Given the description of an element on the screen output the (x, y) to click on. 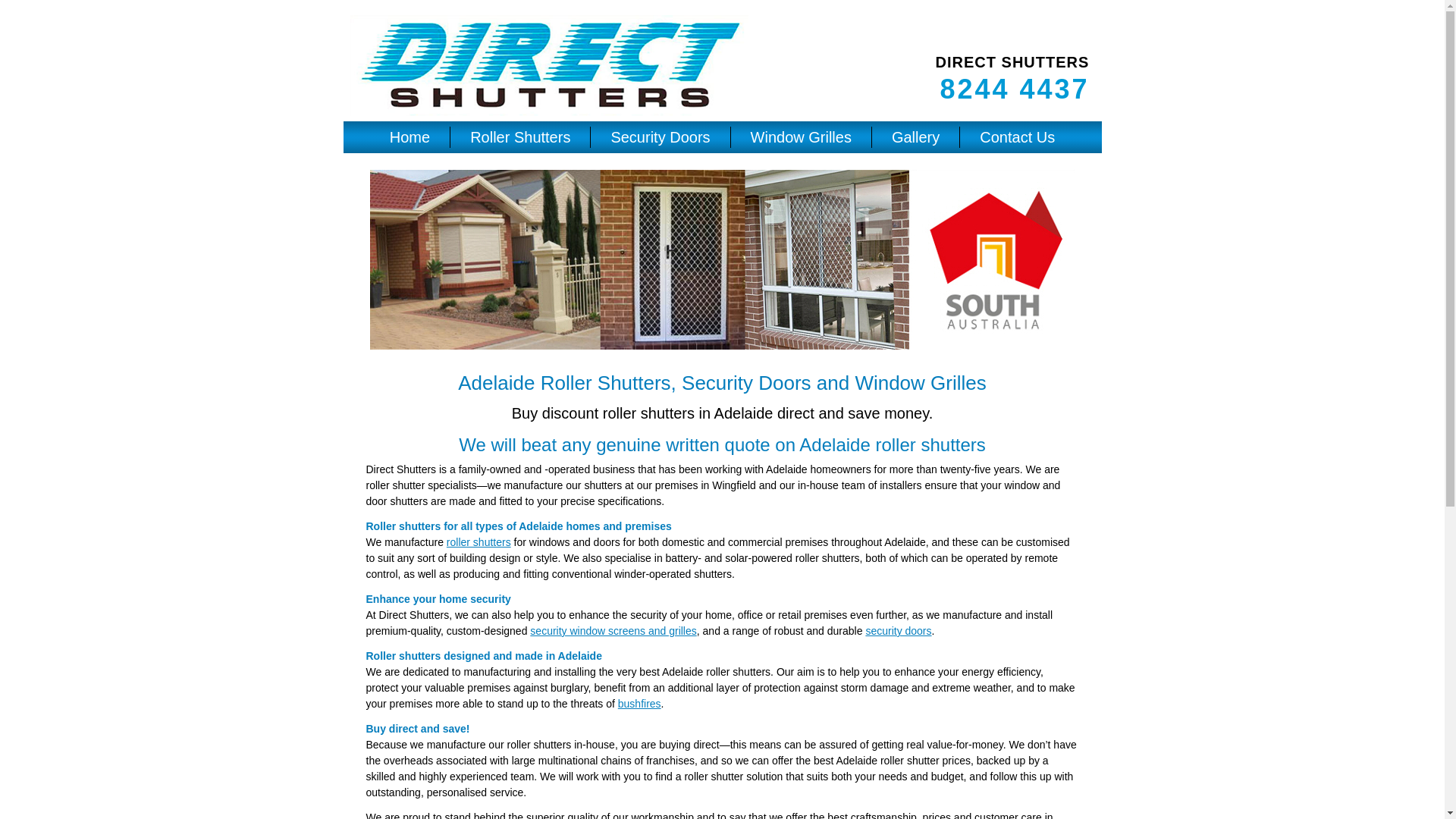
Gallery Element type: text (915, 136)
security window screens and grilles Element type: text (613, 630)
roller shutters Element type: text (478, 542)
Contact Us Element type: text (1017, 136)
Window Grilles Element type: text (801, 136)
Security Doors Element type: text (659, 136)
DIRECT SHUTTERS Element type: text (1012, 61)
Home Element type: text (409, 136)
bushfires Element type: text (639, 703)
security doors Element type: text (898, 630)
Roller Shutters Element type: text (519, 136)
